Given the description of an element on the screen output the (x, y) to click on. 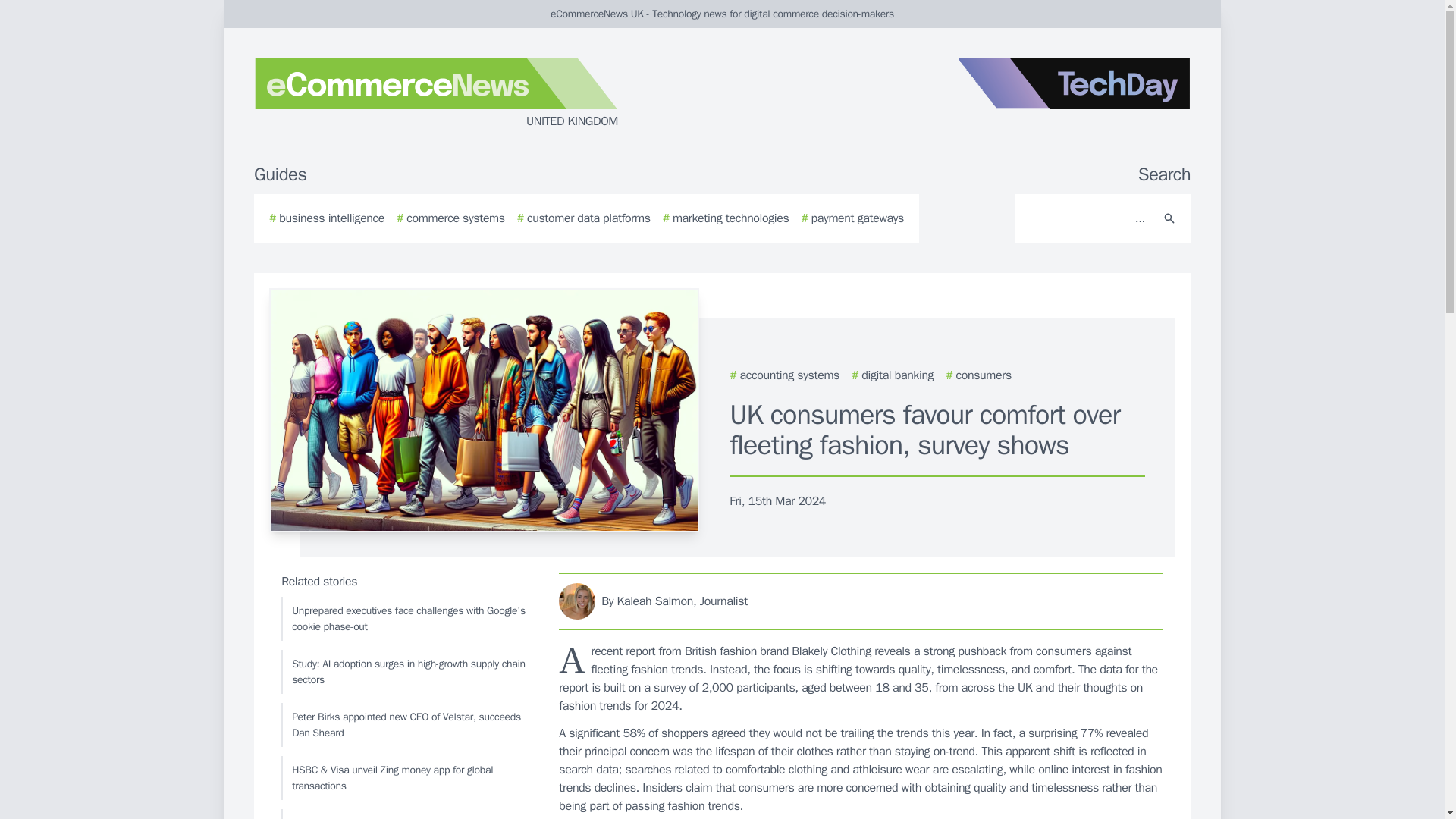
UNITED KINGDOM (435, 94)
By Kaleah Salmon, Journalist (861, 601)
